Given the description of an element on the screen output the (x, y) to click on. 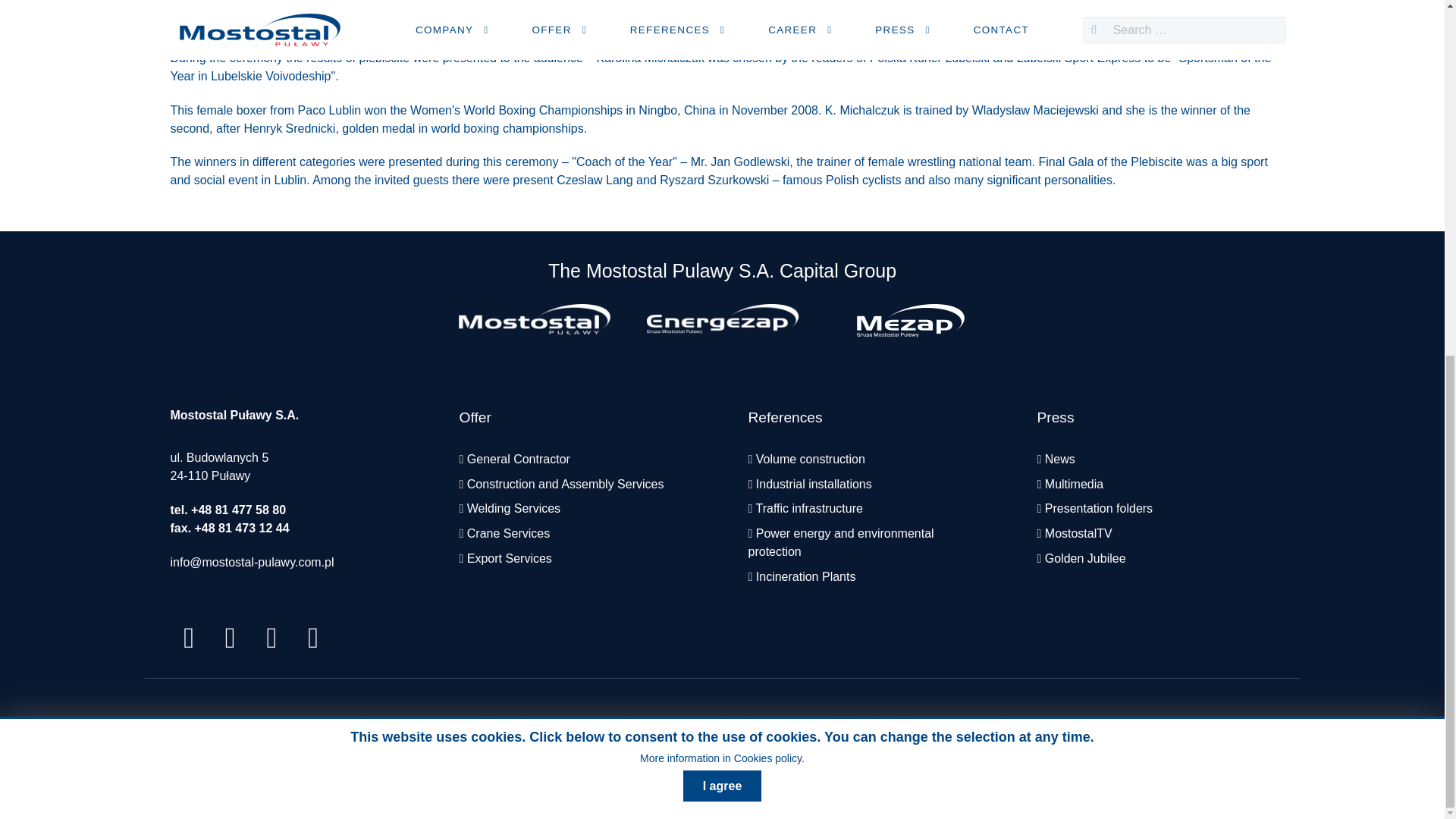
Multimedia (1074, 483)
Incineration Plants (805, 576)
News (1060, 459)
MostostalTV (1078, 533)
Export Services (509, 558)
Golden Jubilee (1085, 558)
Volume construction (809, 459)
Construction and Assembly Services (565, 483)
Traffic infrastructure (808, 508)
Crane Services (508, 533)
Welding Services (513, 508)
Power energy and environmental protection (840, 542)
Presentation folders (1099, 508)
General Contractor (518, 459)
Industrial installations (813, 483)
